Given the description of an element on the screen output the (x, y) to click on. 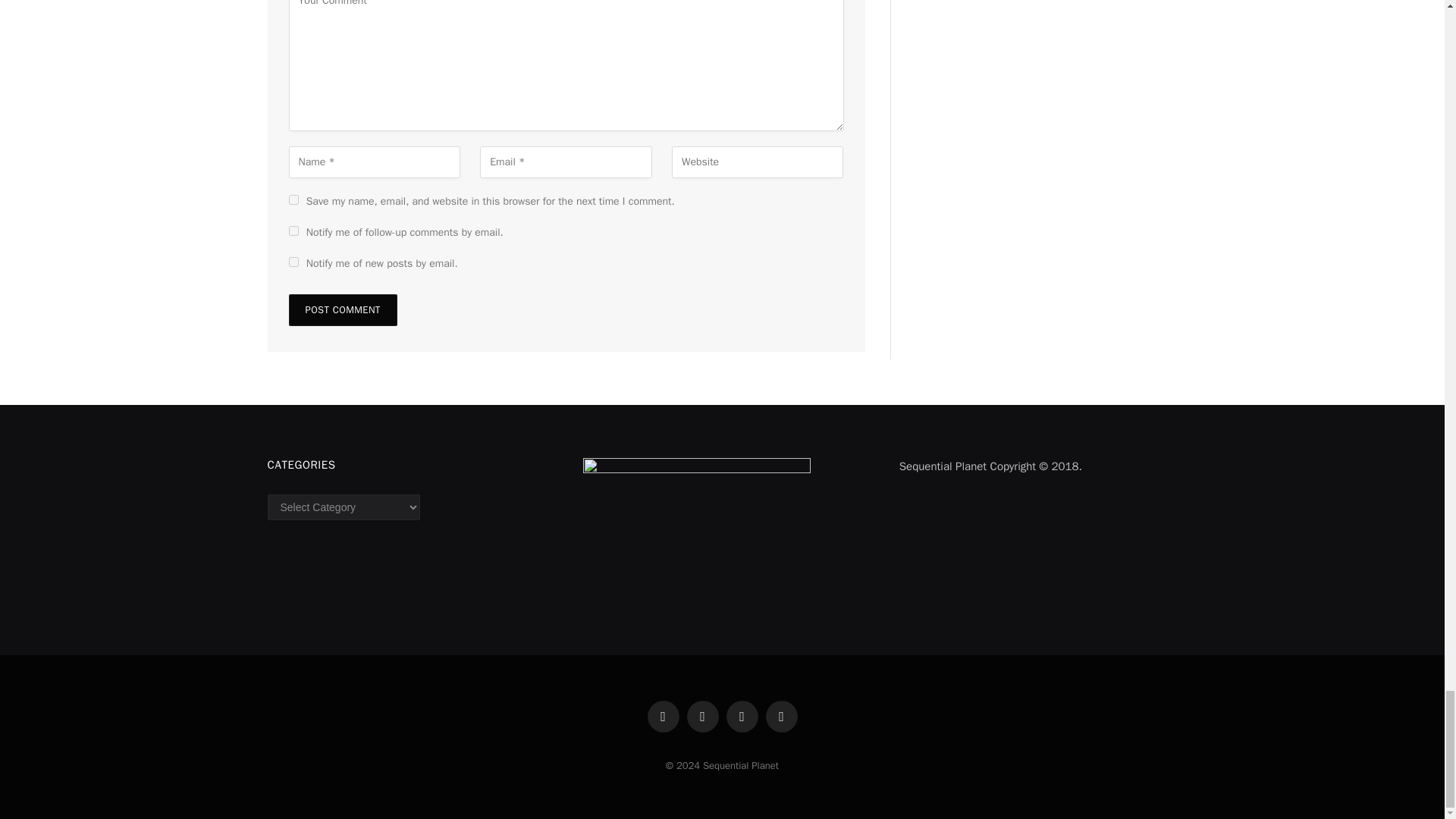
subscribe (293, 261)
yes (293, 199)
Post Comment (342, 309)
subscribe (293, 230)
